Given the description of an element on the screen output the (x, y) to click on. 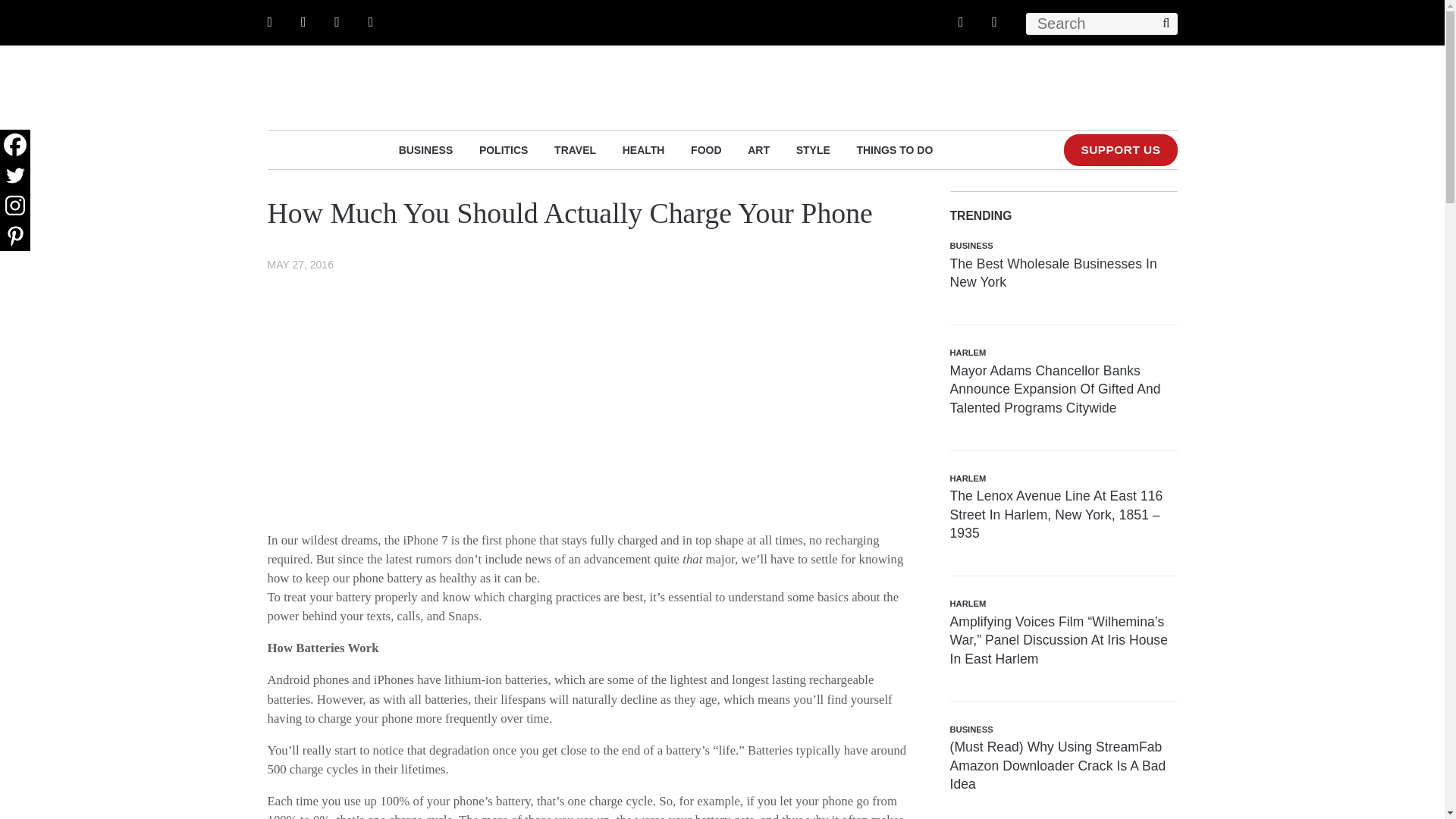
Instagram (15, 205)
TRAVEL (574, 149)
Twitter (15, 174)
HEALTH (644, 149)
BUSINESS (425, 149)
Pinterest (15, 235)
SUPPORT US (1120, 150)
Facebook (15, 144)
THINGS TO DO (894, 149)
STYLE (812, 149)
